Given the description of an element on the screen output the (x, y) to click on. 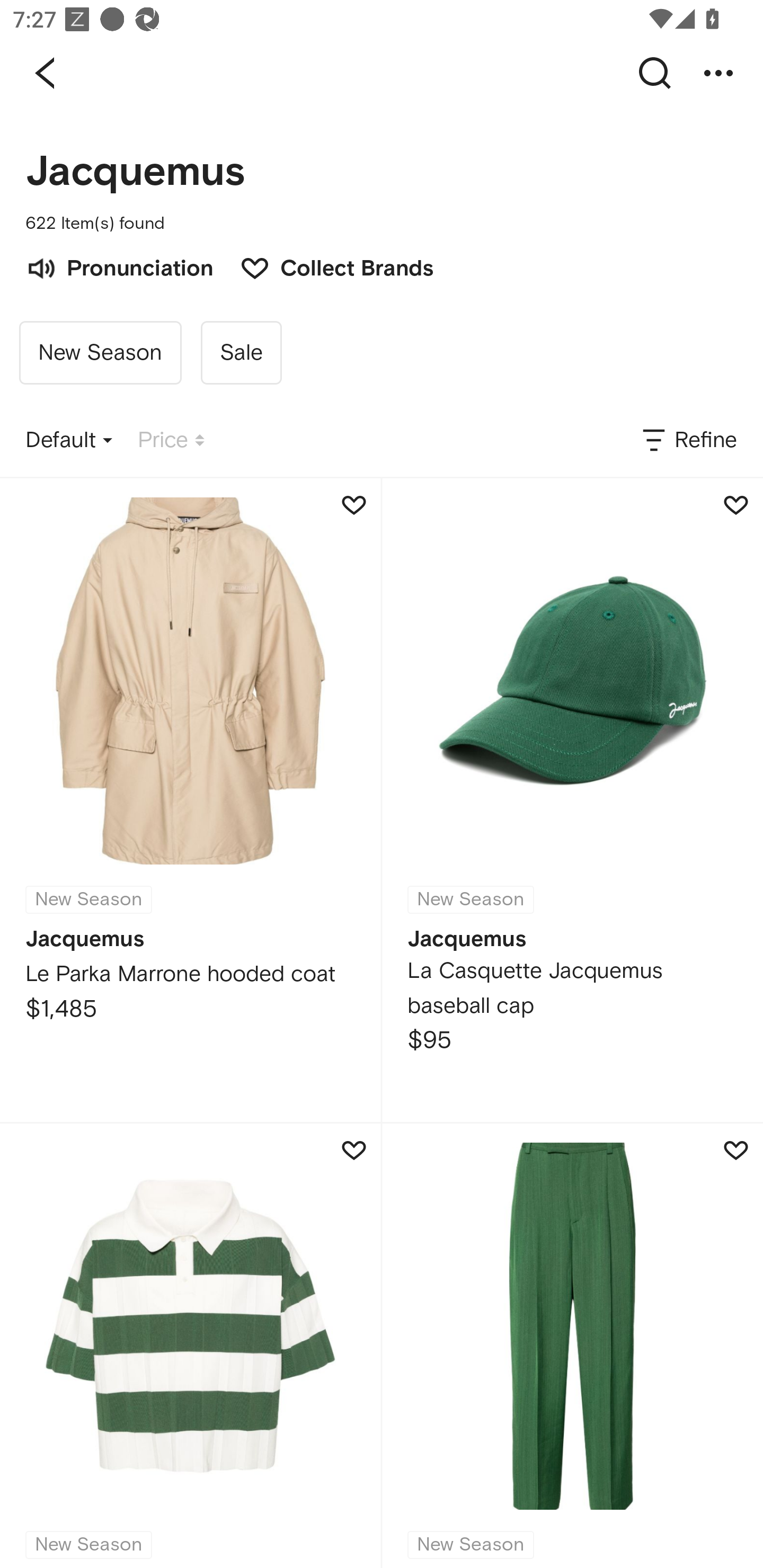
Pronunciation (119, 266)
Collect Brands (327, 266)
New Season (100, 352)
Sale (240, 352)
Default (68, 440)
Price (171, 440)
Refine (688, 440)
New Season (190, 1346)
New Season (572, 1346)
